Given the description of an element on the screen output the (x, y) to click on. 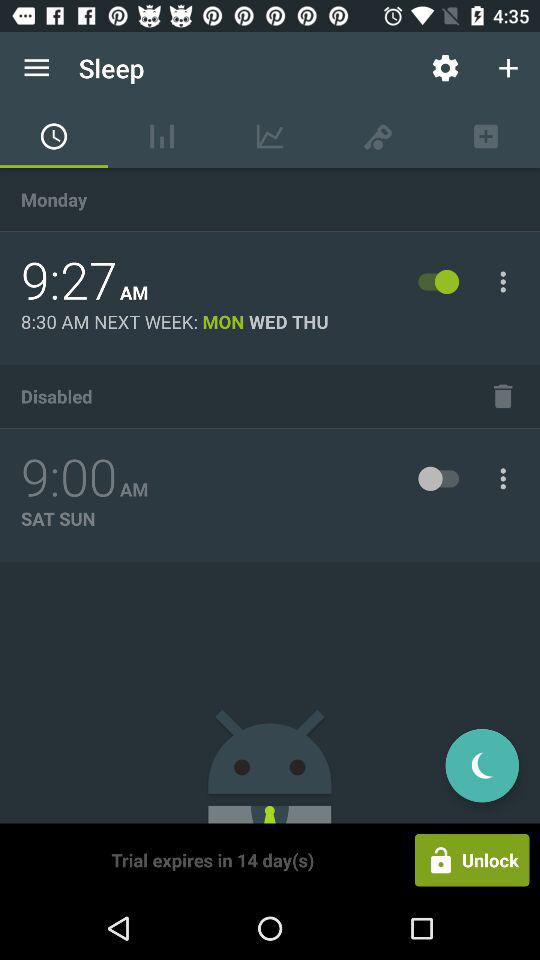
launch the item next to disabled icon (503, 396)
